Given the description of an element on the screen output the (x, y) to click on. 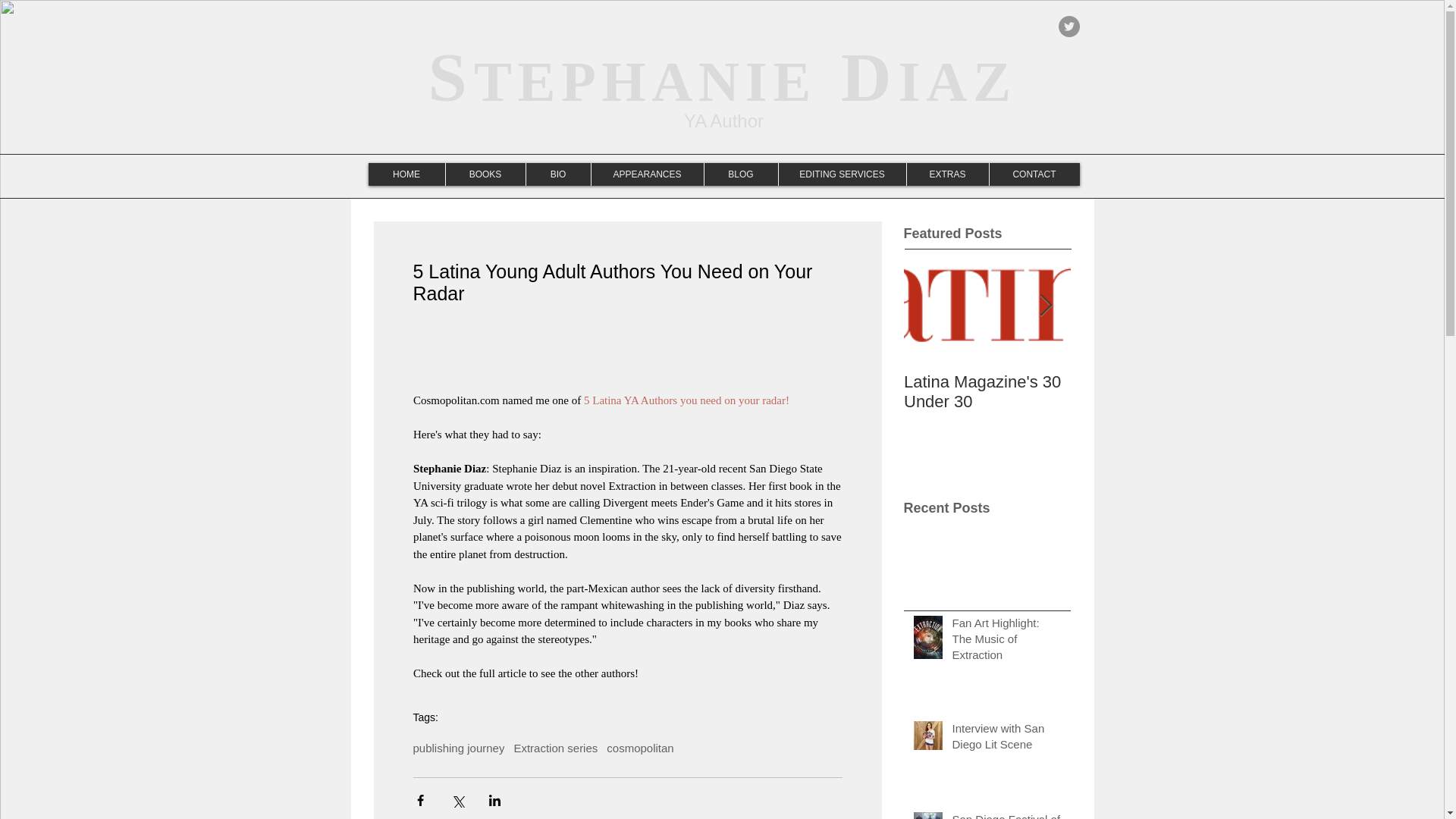
D (857, 77)
Interview with San Diego Lit Scene (1006, 739)
5 Latina Young Adult Authors You Need on Your Radar (1153, 401)
 5 Latina YA Authors you need on your radar! (684, 399)
EDITING SERVICES (841, 173)
cosmopolitan (639, 748)
San Diego Festival of Books 2017 (1006, 815)
publishing journey (457, 748)
HOME (406, 173)
IAZ (957, 81)
